Given the description of an element on the screen output the (x, y) to click on. 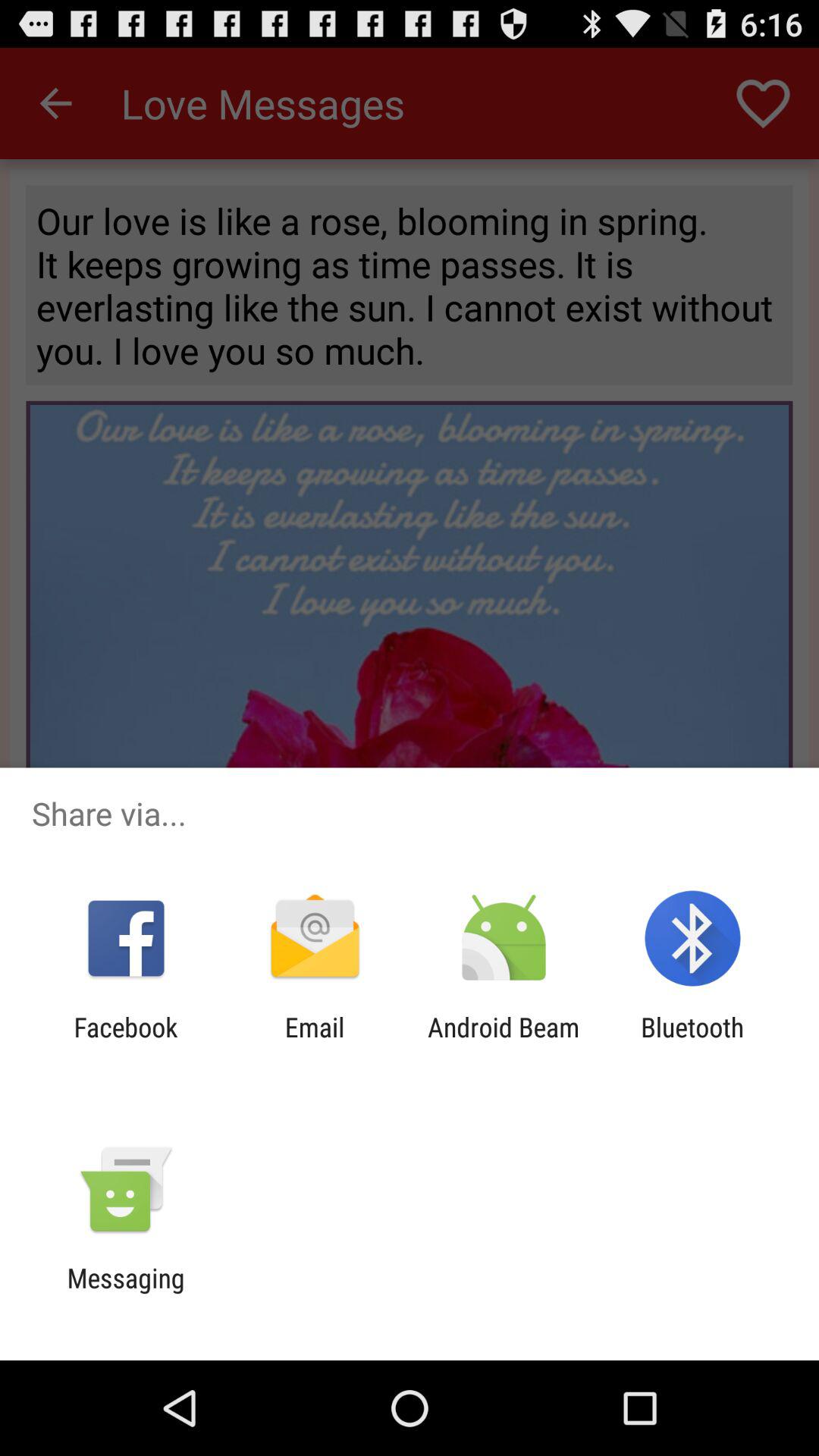
launch the facebook (125, 1042)
